Given the description of an element on the screen output the (x, y) to click on. 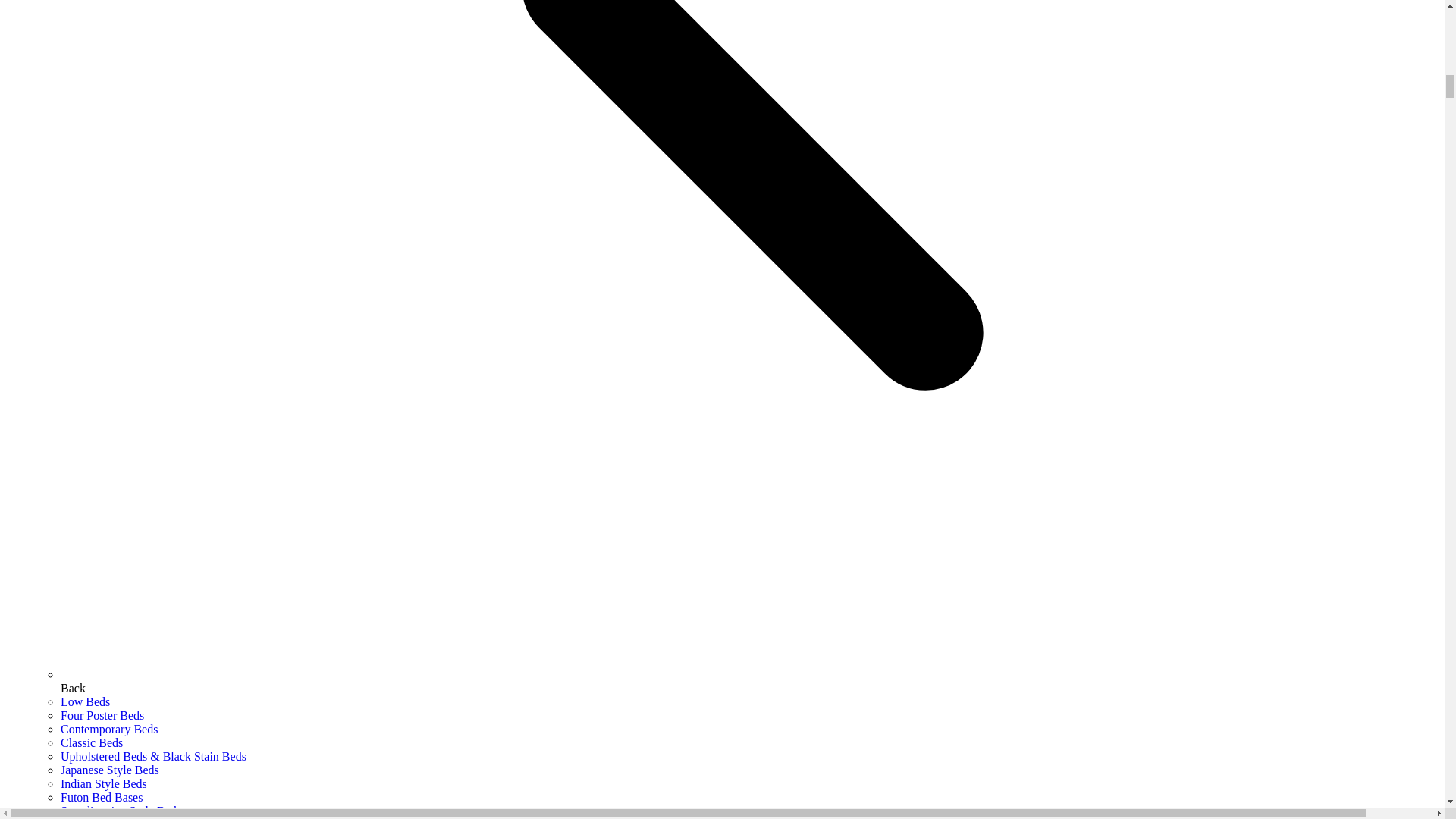
Contemporary Beds (109, 728)
Indian Style Beds (104, 783)
Low Beds (85, 701)
Futon Bed Bases (101, 797)
Back (752, 681)
Classic Beds (91, 742)
Scandinavian Style Beds (120, 810)
Sale Beds (85, 818)
Japanese Style Beds (109, 769)
Four Poster Beds (102, 715)
